Given the description of an element on the screen output the (x, y) to click on. 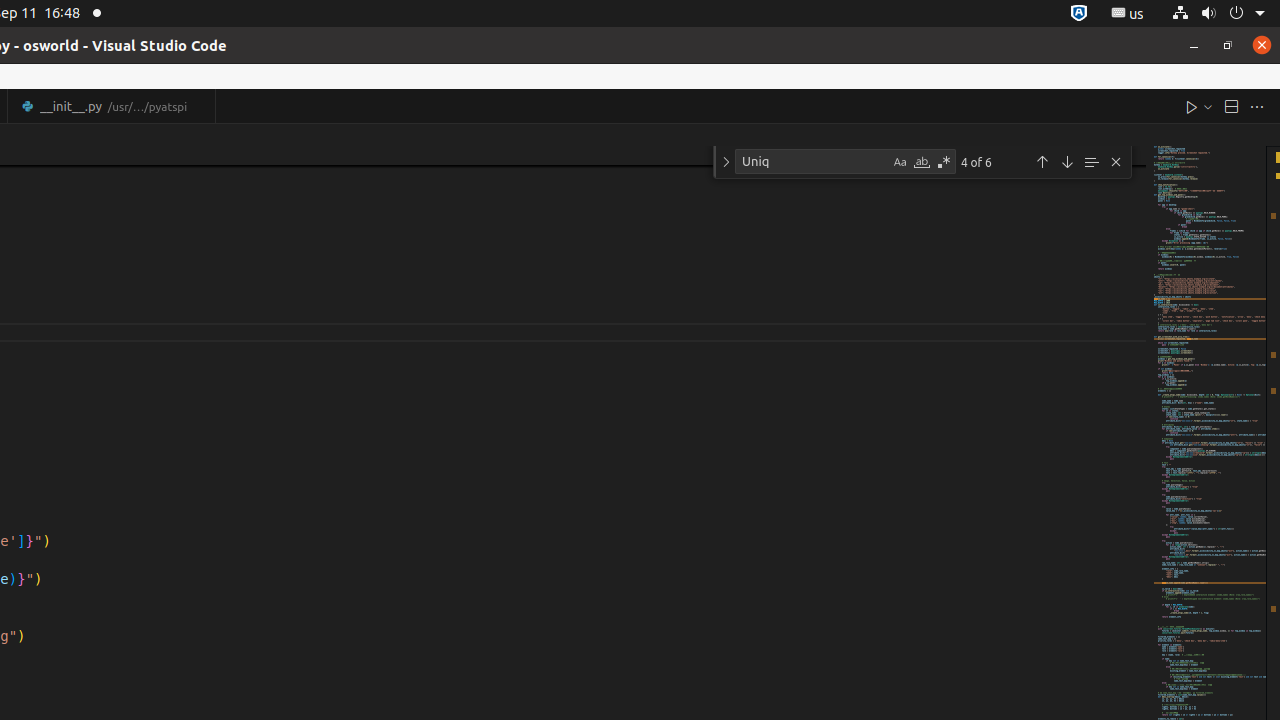
Run or Debug... Element type: push-button (1208, 106)
